Given the description of an element on the screen output the (x, y) to click on. 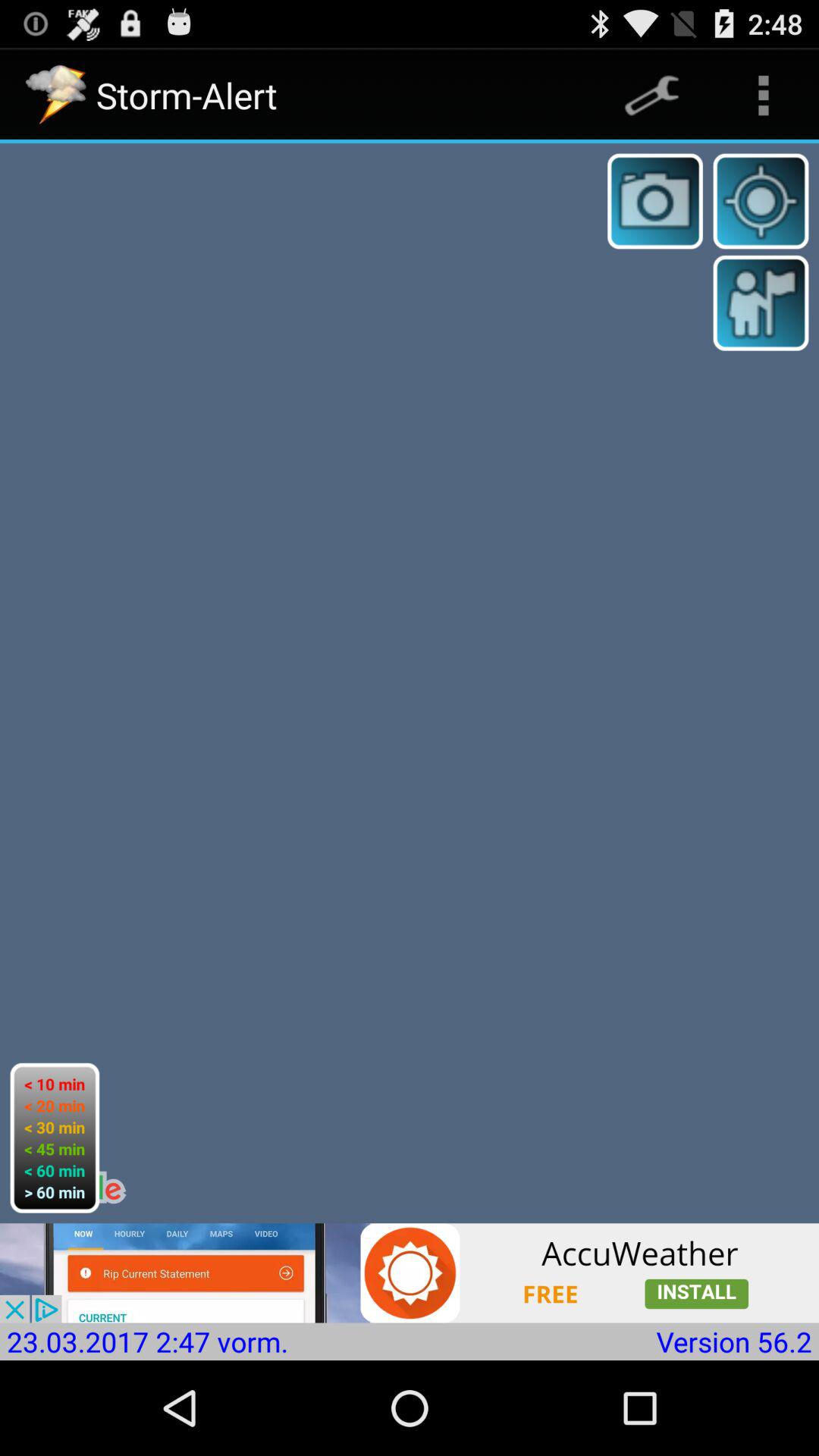
current location (760, 201)
